Given the description of an element on the screen output the (x, y) to click on. 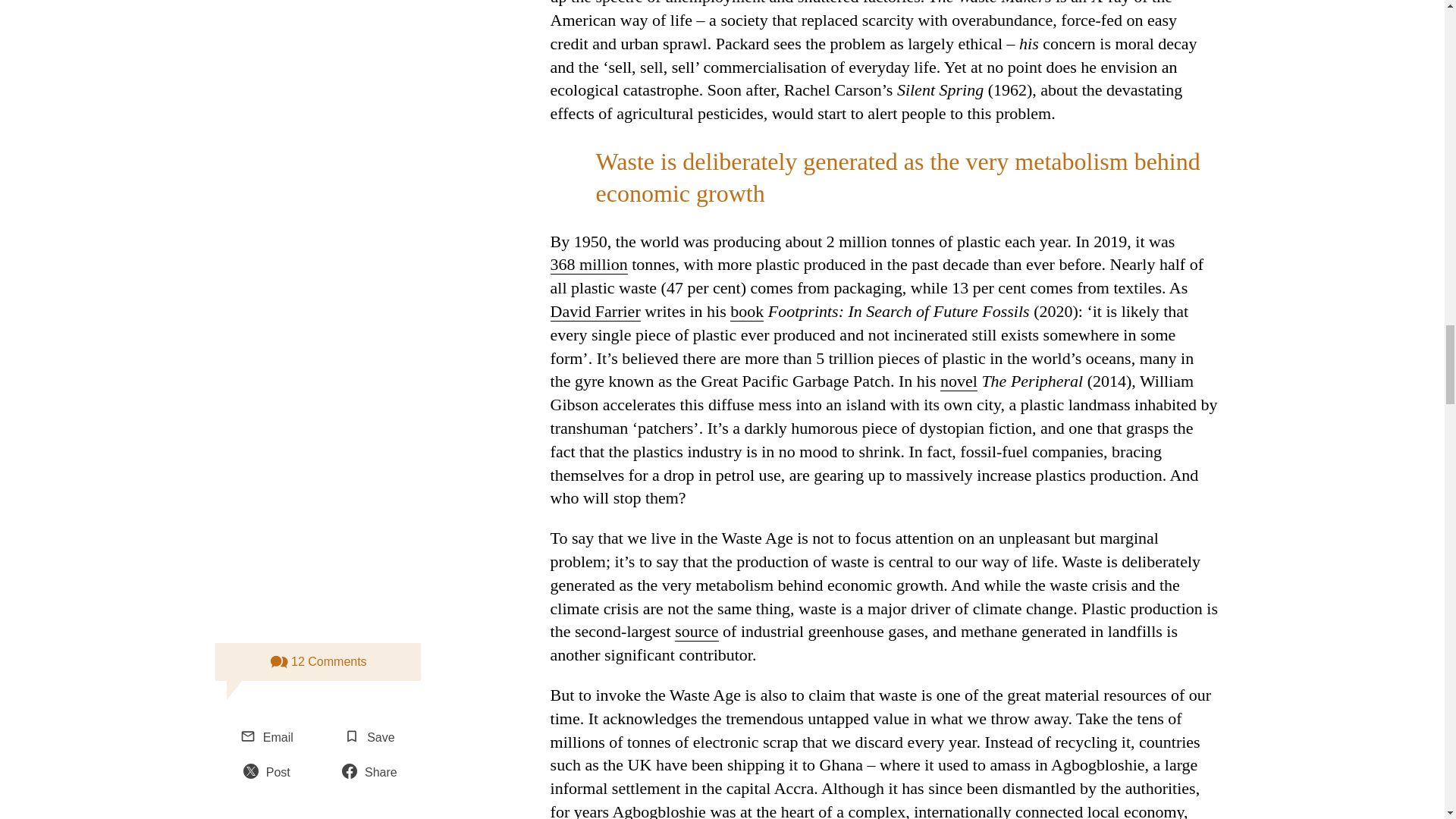
368 million (588, 264)
source (696, 631)
novel (958, 381)
book (746, 311)
David Farrier (595, 311)
